Given the description of an element on the screen output the (x, y) to click on. 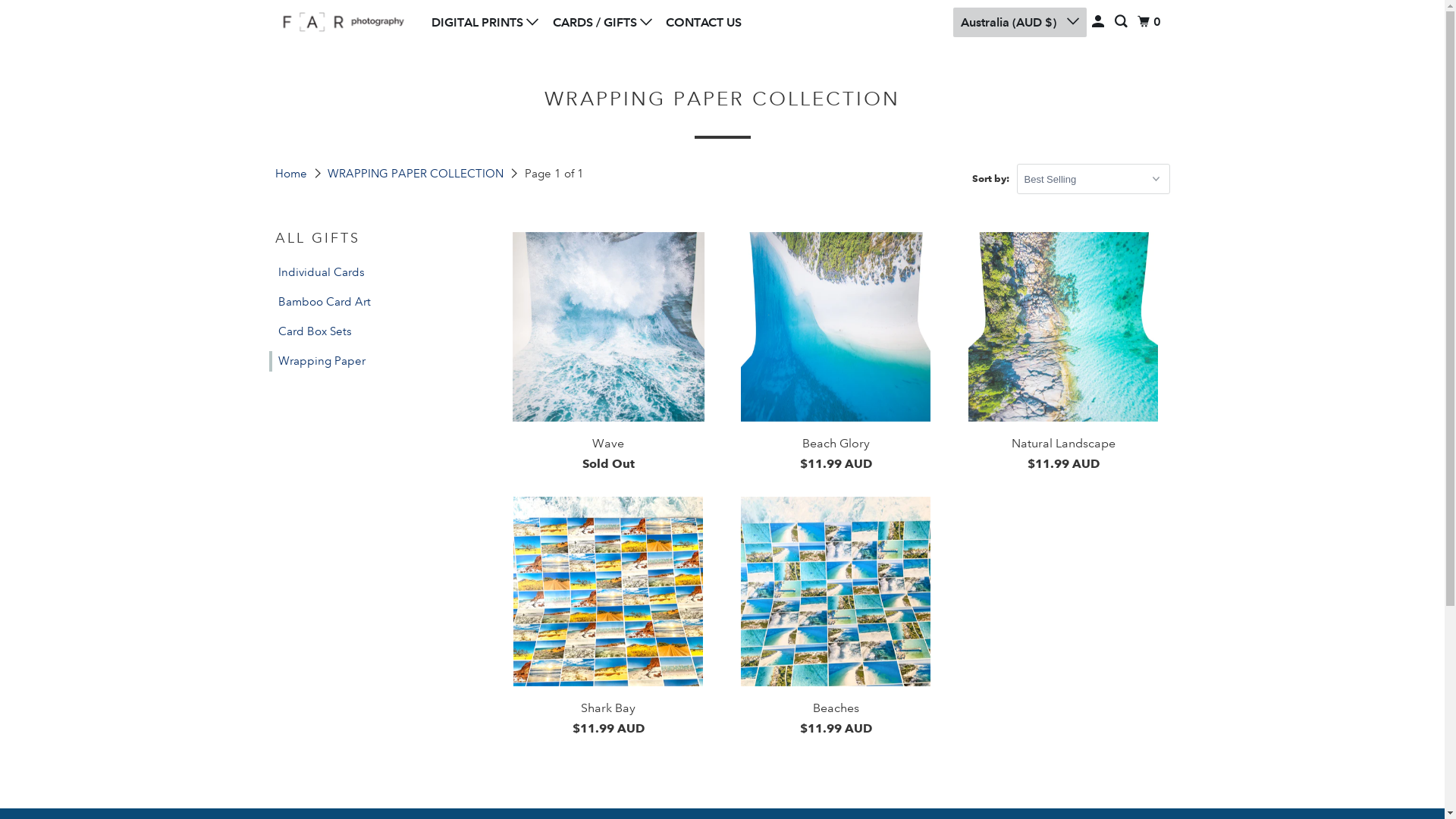
Australia (AUD $) Element type: text (1019, 22)
Far Photography.com.au Pty Ltd Element type: hover (342, 21)
Bamboo Card Art Element type: text (319, 301)
Wave
Sold Out Element type: text (608, 352)
Home Element type: text (291, 173)
Beaches
$11.99 AUD Element type: text (835, 617)
Card Box Sets Element type: text (309, 331)
Beach Glory
$11.99 AUD Element type: text (835, 352)
Wrapping Paper Element type: text (316, 361)
Shark Bay
$11.99 AUD Element type: text (608, 617)
0 Element type: text (1150, 21)
My Account  Element type: hover (1098, 21)
Search Element type: hover (1121, 21)
WRAPPING PAPER COLLECTION Element type: text (416, 173)
Natural Landscape
$11.99 AUD Element type: text (1063, 352)
Individual Cards Element type: text (316, 272)
CONTACT US Element type: text (703, 22)
